Given the description of an element on the screen output the (x, y) to click on. 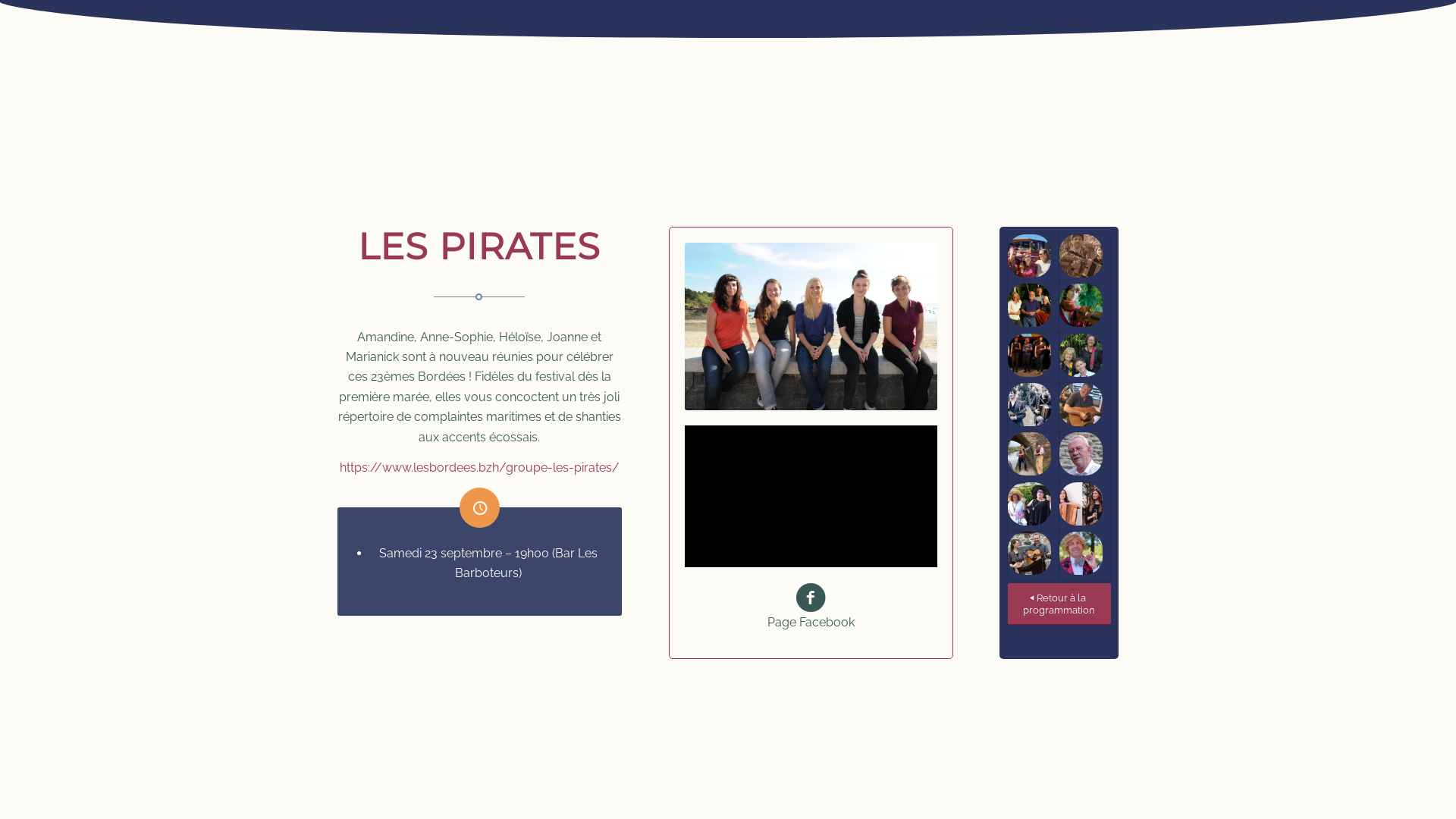
Les Pirates - Roll the Cotton Down Element type: hover (810, 496)
Les Pirates Port Mer_1 Element type: hover (810, 326)
https://www.lesbordees.bzh/groupe-les-pirates/ Element type: text (479, 467)
